Given the description of an element on the screen output the (x, y) to click on. 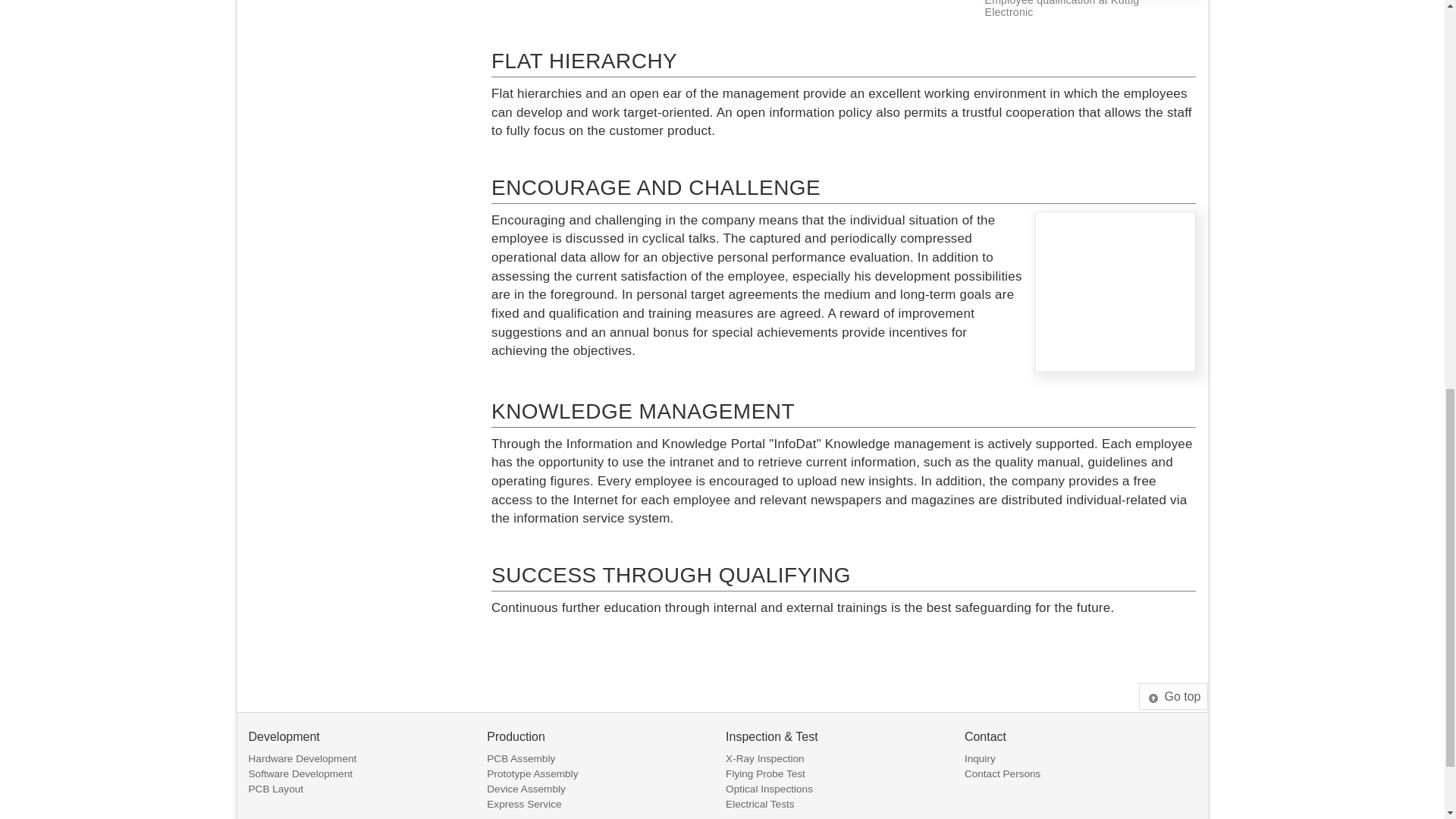
Hardware Development (302, 758)
Go top (1172, 696)
